Given the description of an element on the screen output the (x, y) to click on. 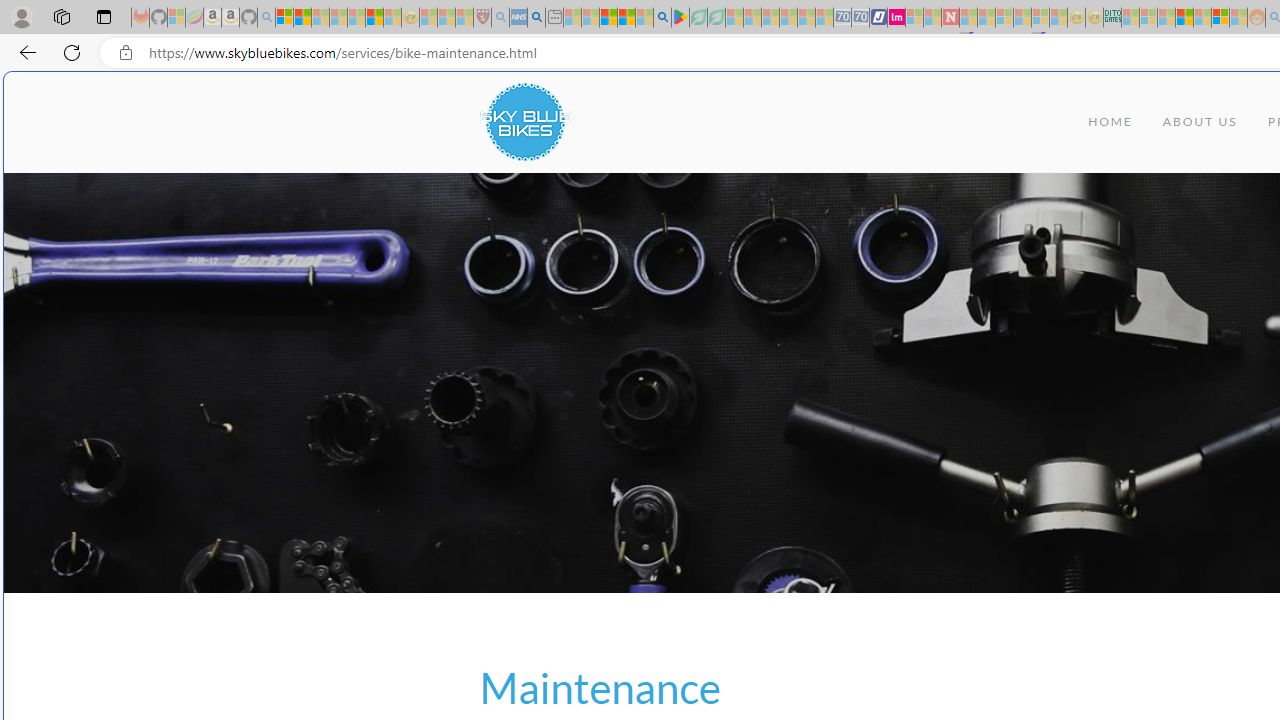
utah sues federal government - Search (536, 17)
HOME (1110, 122)
ABOUT US (1199, 122)
